Given the description of an element on the screen output the (x, y) to click on. 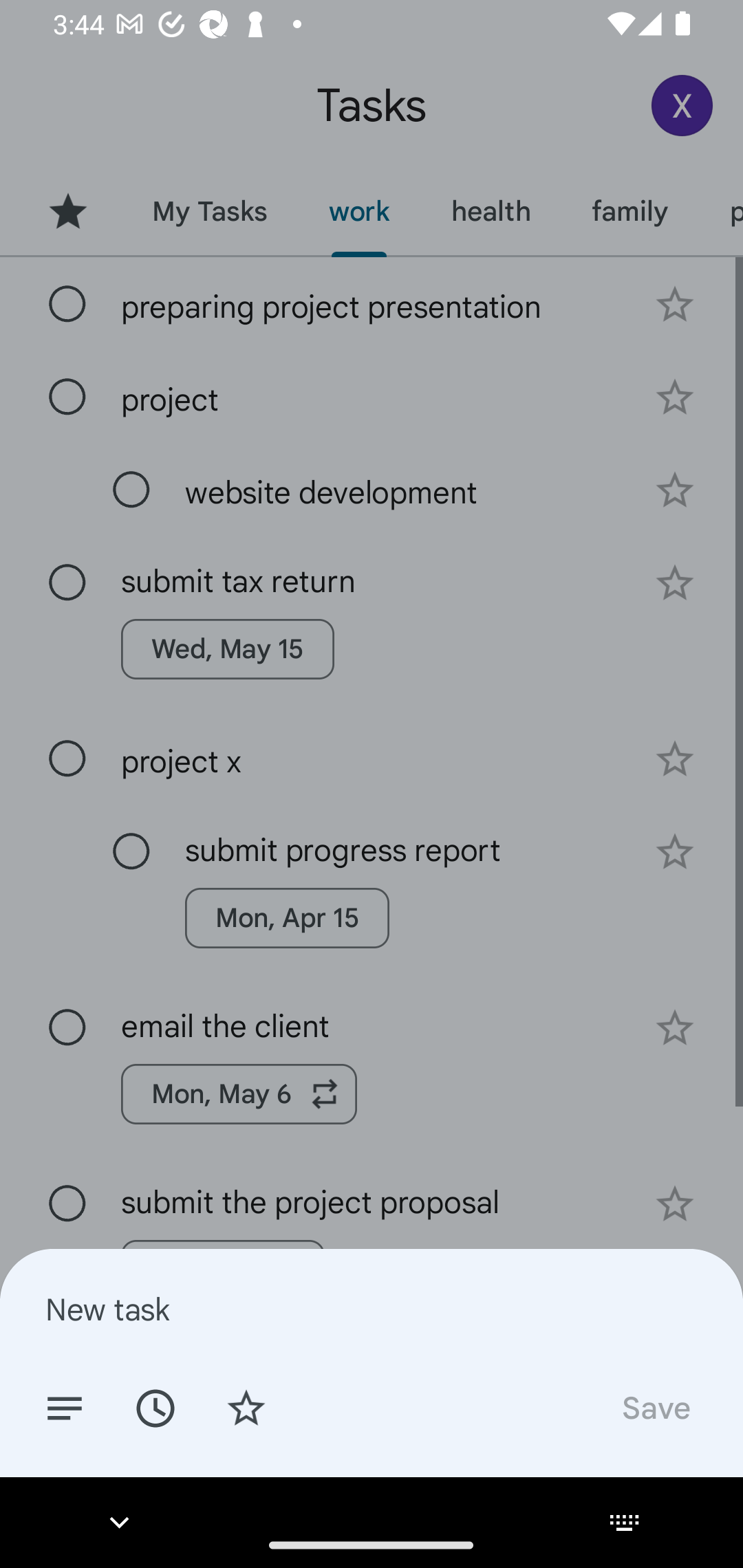
New task (371, 1308)
Save (655, 1407)
Add details (64, 1407)
Set date/time (154, 1407)
Add star (245, 1407)
